Given the description of an element on the screen output the (x, y) to click on. 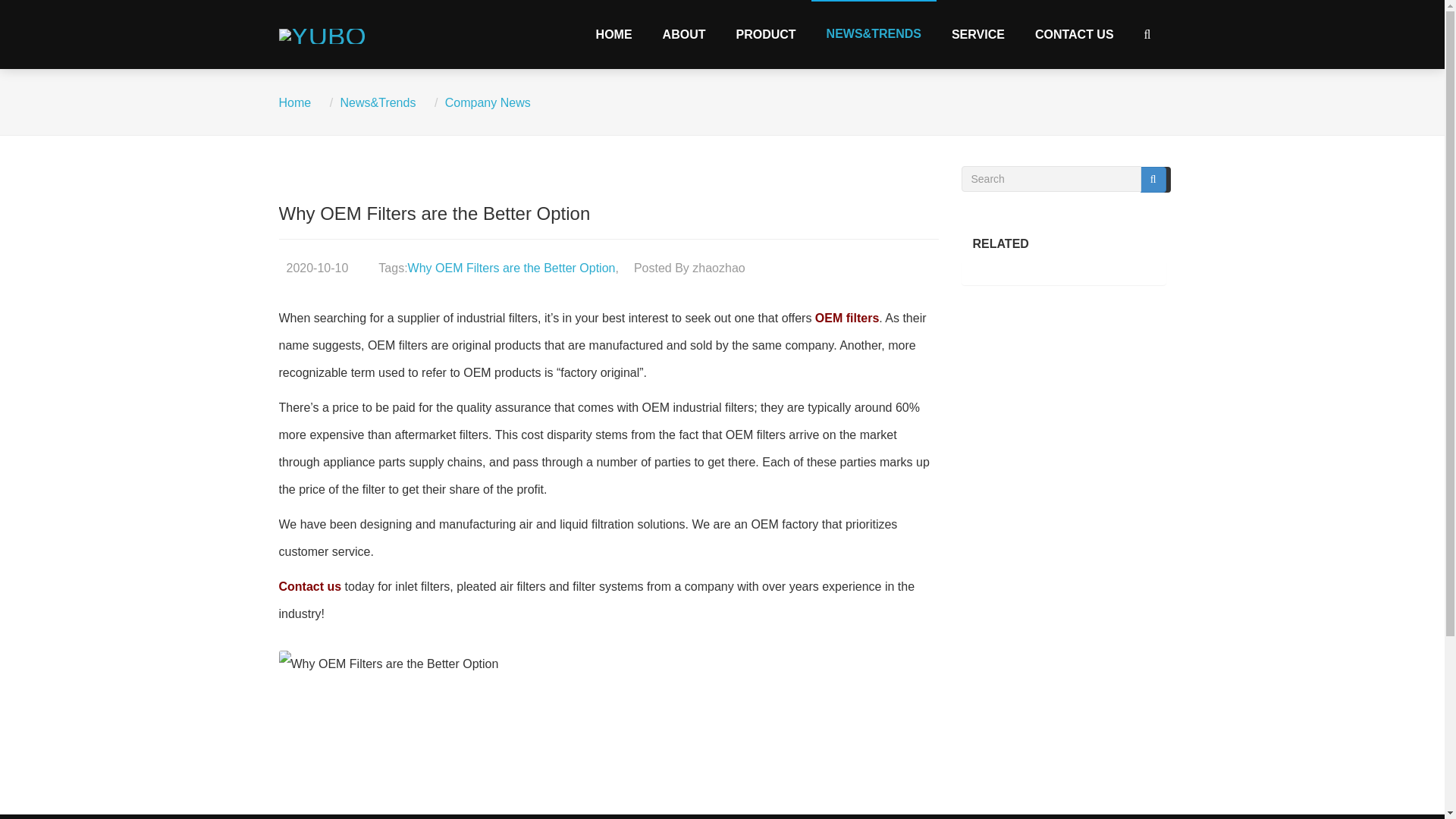
OEM filters (847, 318)
Company News (488, 102)
SERVICE (978, 33)
HOME (613, 33)
Home (295, 102)
Why OEM Filters are the Better Option (511, 267)
CONTACT US (1074, 33)
ABOUT (683, 33)
PRODUCT (765, 33)
Contact us (310, 585)
